Given the description of an element on the screen output the (x, y) to click on. 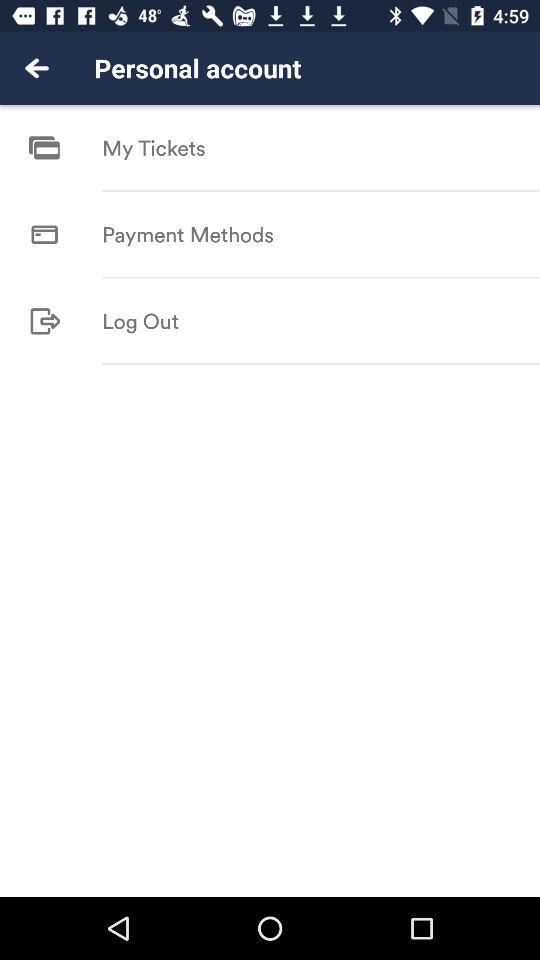
swipe to the payment methods icon (187, 234)
